Given the description of an element on the screen output the (x, y) to click on. 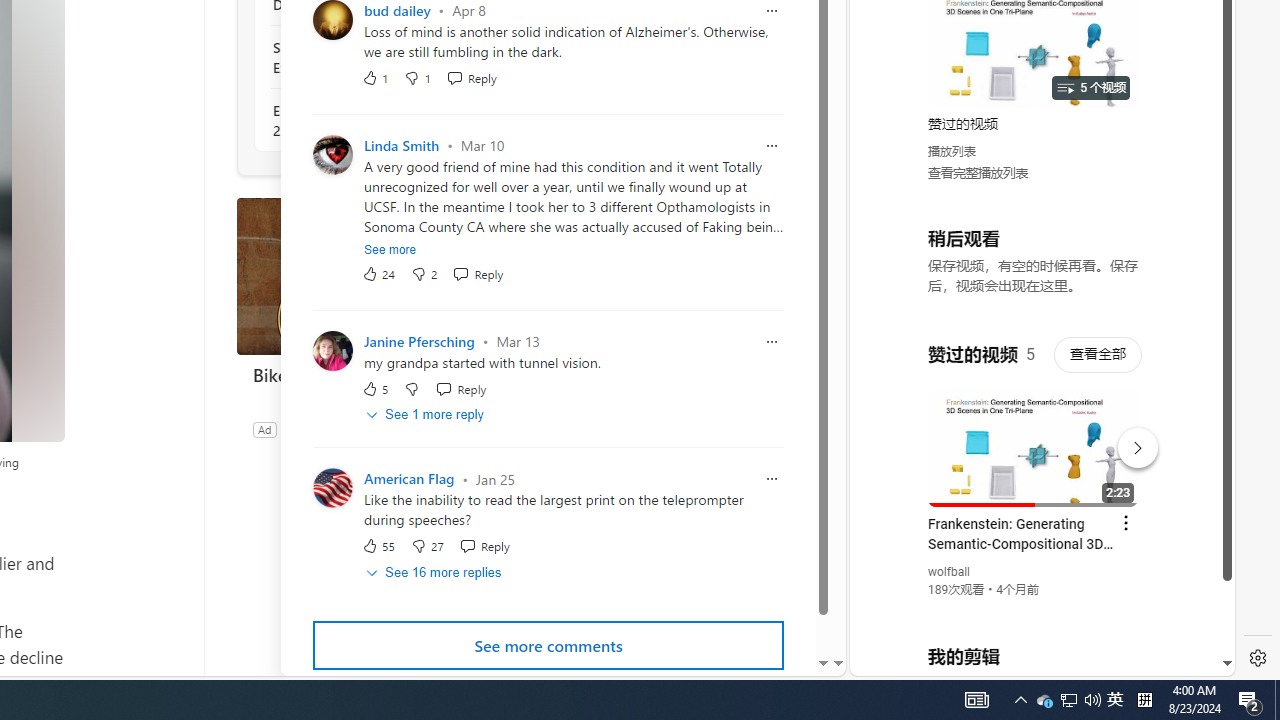
Janine Pfersching (418, 341)
wolfball (949, 572)
YouTube - YouTube (1034, 266)
Dislike (426, 546)
Ad (264, 429)
